Given the description of an element on the screen output the (x, y) to click on. 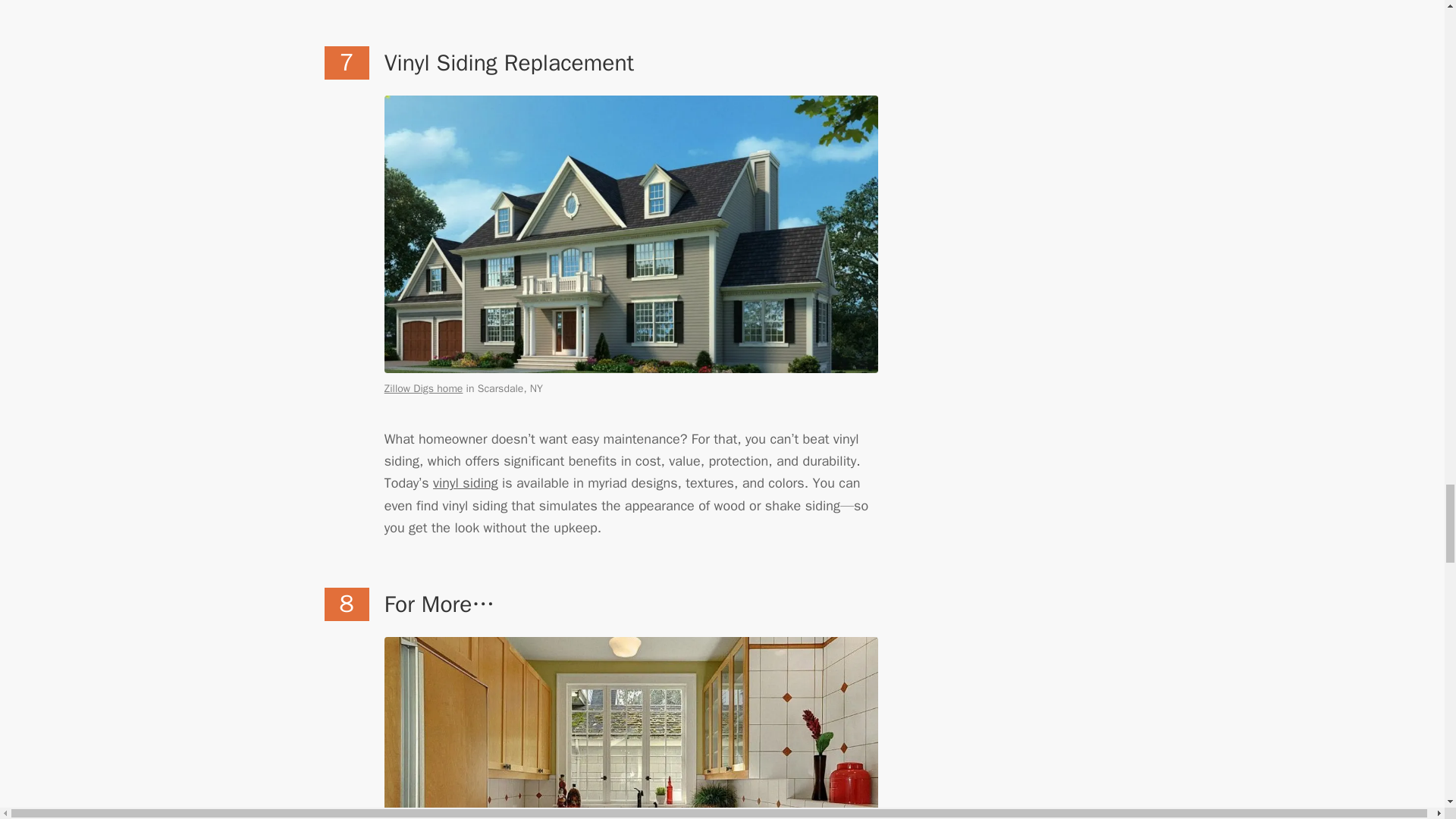
10 Reasons to Reconsider Vinyl Siding (464, 483)
